Given the description of an element on the screen output the (x, y) to click on. 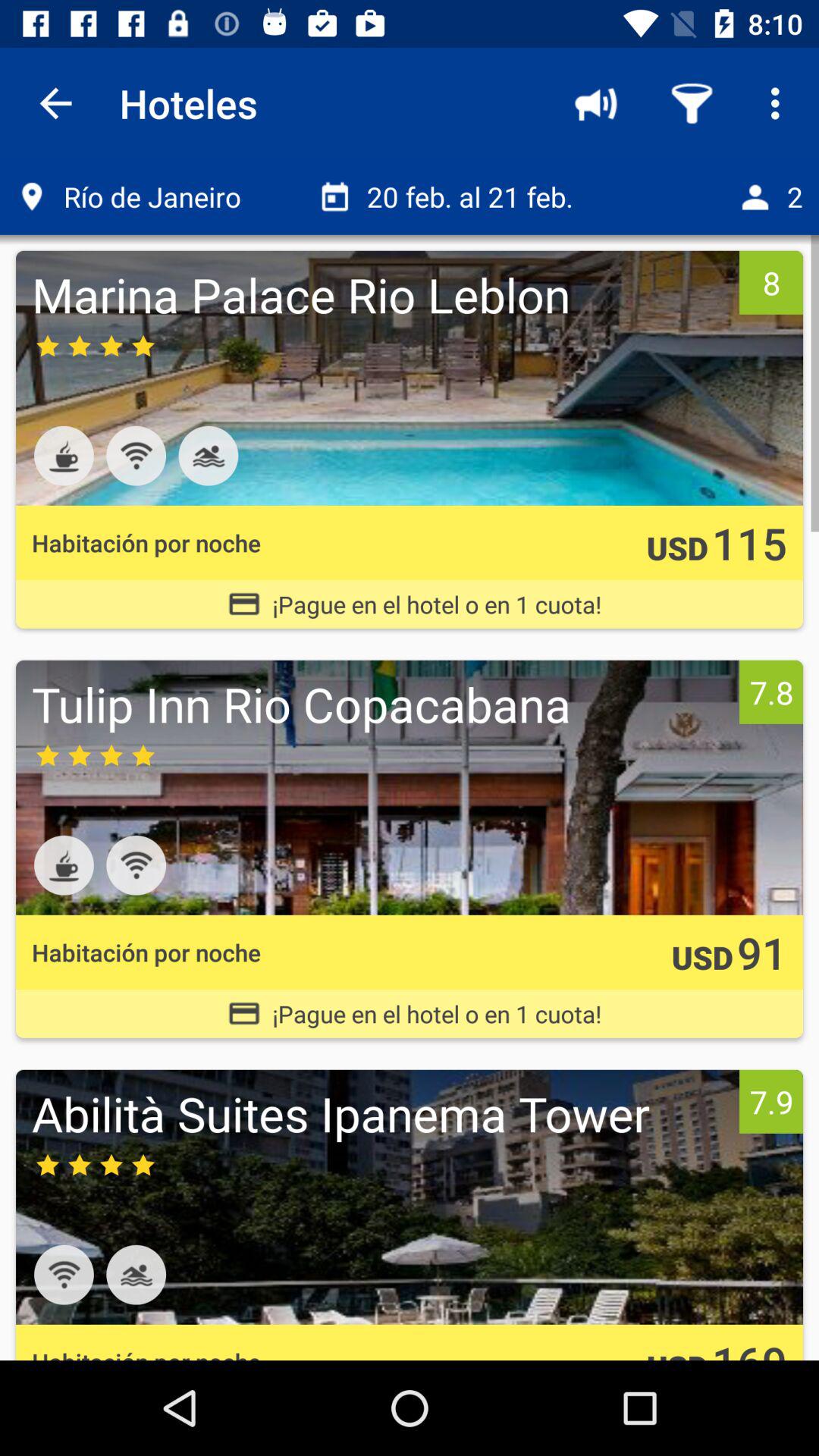
select the item to the right of the usd icon (749, 542)
